Given the description of an element on the screen output the (x, y) to click on. 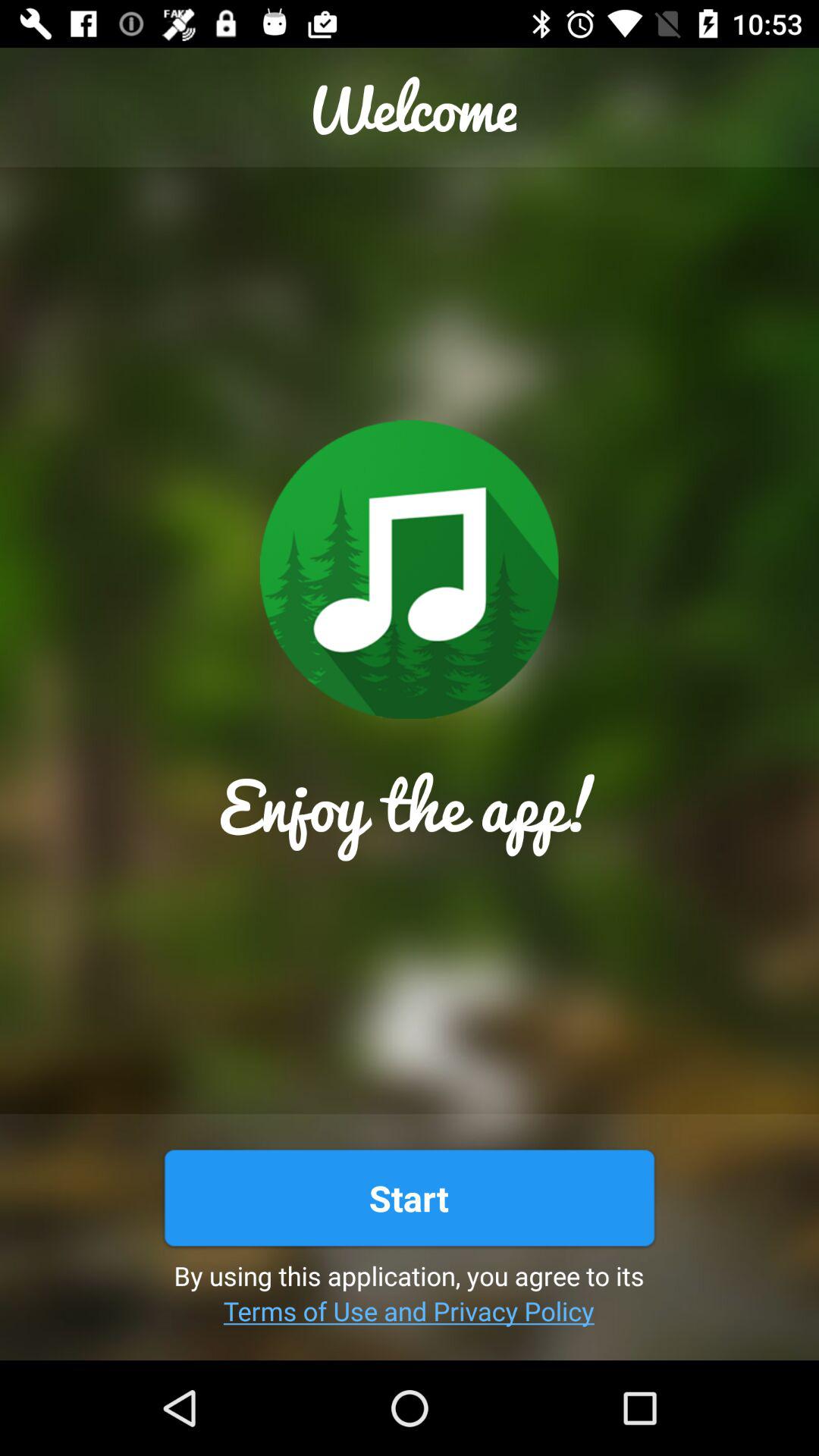
flip until the start item (409, 1198)
